Given the description of an element on the screen output the (x, y) to click on. 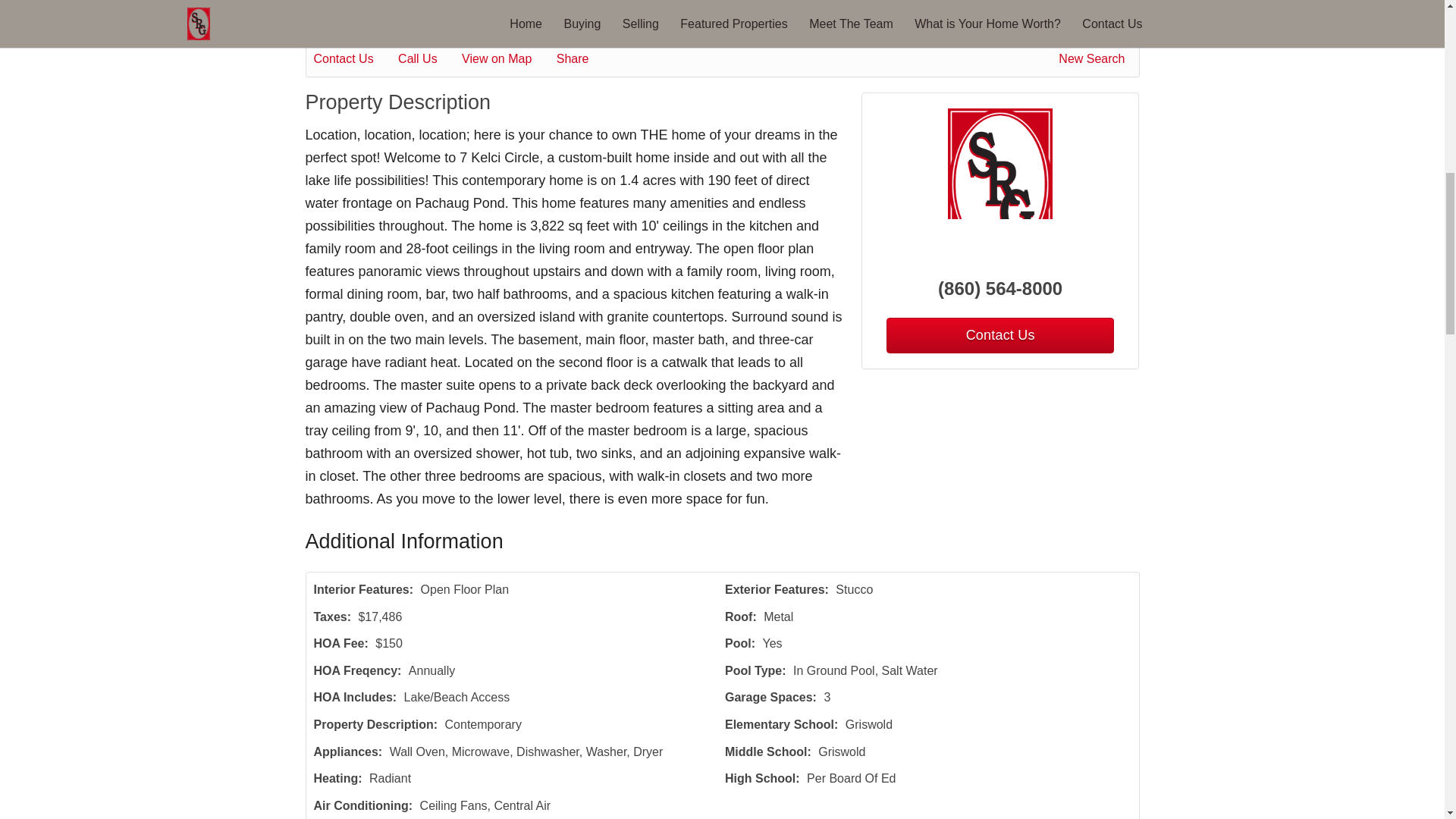
New Search (1094, 58)
Share (583, 58)
Call Us (427, 58)
Contact Us (999, 334)
Contact Us (354, 58)
View on Map (507, 58)
